Given the description of an element on the screen output the (x, y) to click on. 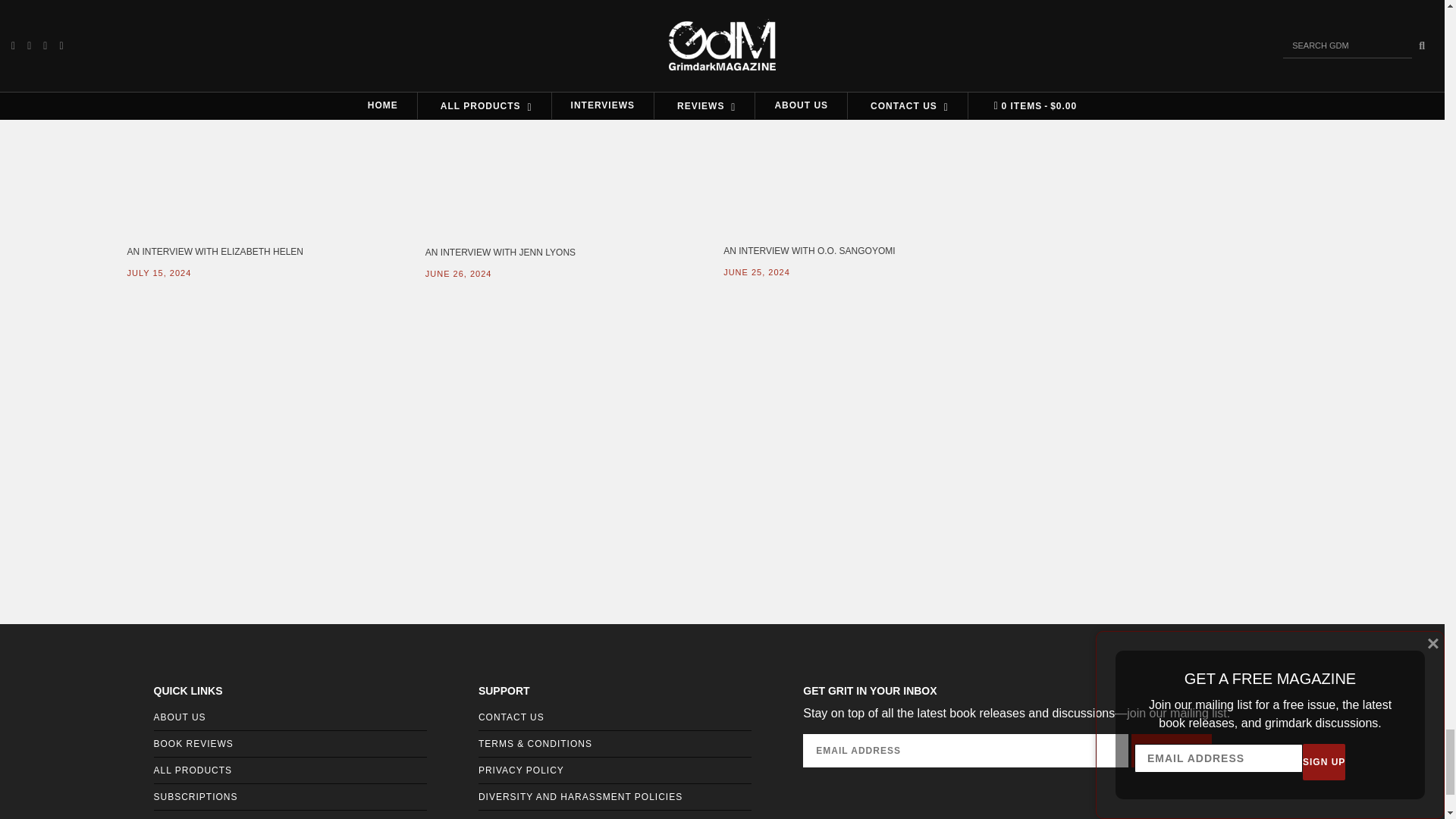
Let's Go (1171, 750)
